Given the description of an element on the screen output the (x, y) to click on. 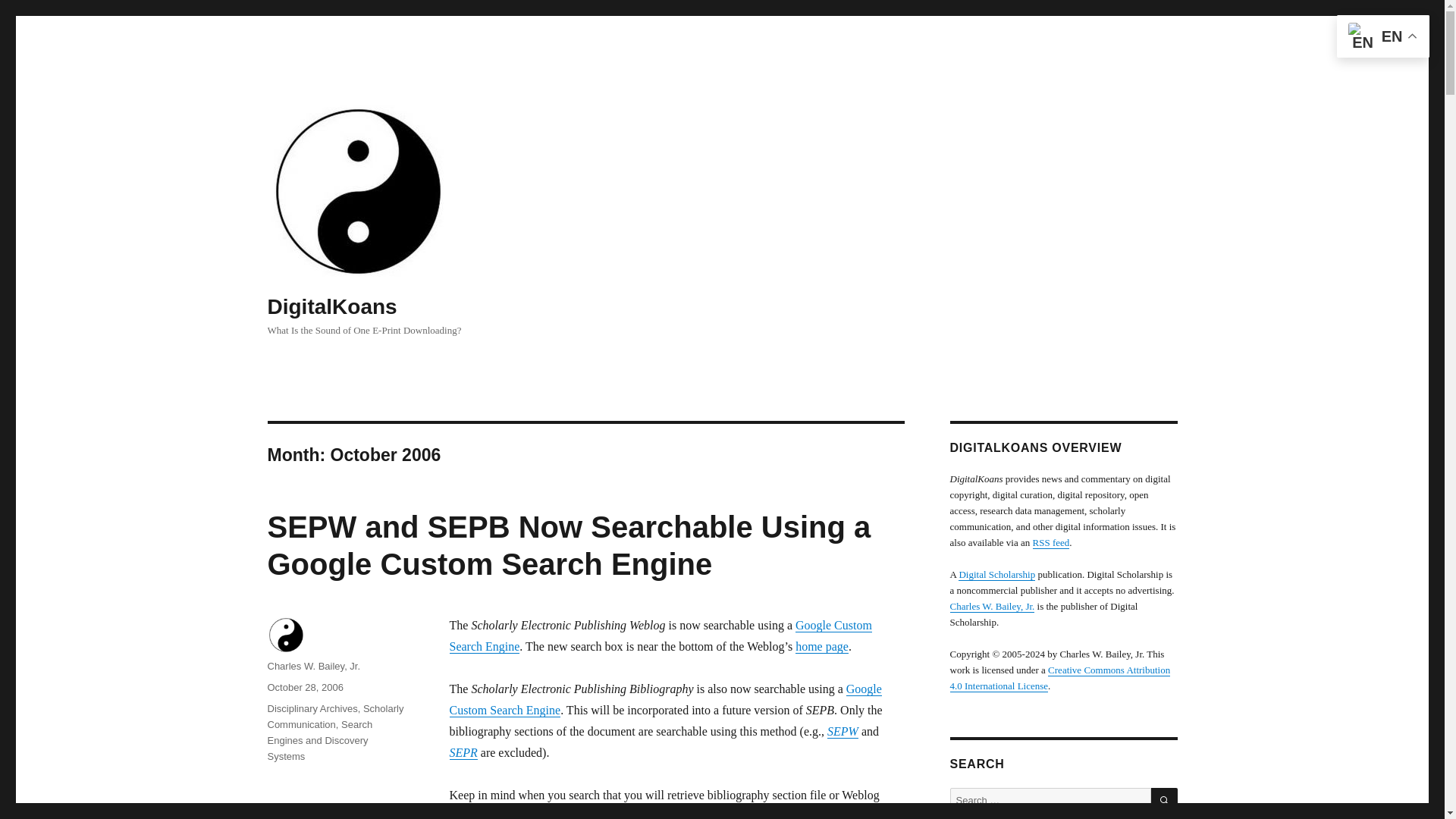
October 28, 2006 (304, 686)
Scholarly Communication (334, 716)
home page (821, 645)
SEPW (843, 730)
Google Custom Search Engine (664, 699)
DigitalKoans (331, 306)
SEPR (462, 752)
Search Engines and Discovery Systems (319, 740)
Disciplinary Archives (311, 708)
Charles W. Bailey, Jr. (312, 665)
Google Custom Search Engine (659, 635)
